Given the description of an element on the screen output the (x, y) to click on. 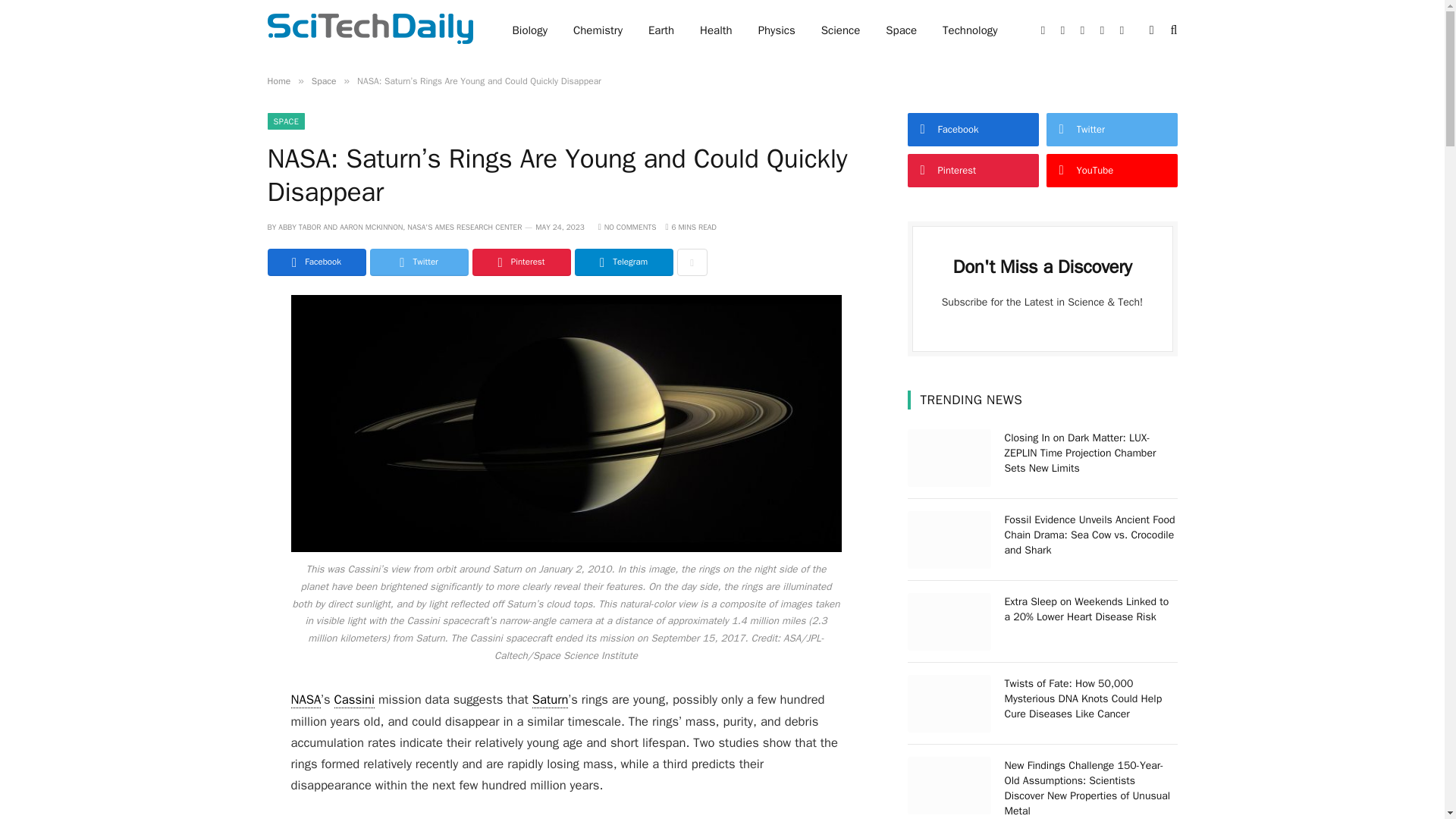
Biology (529, 30)
Health (716, 30)
Technology (970, 30)
SciTechDaily (368, 30)
Physics (776, 30)
Switch to Dark Design - easier on eyes. (1151, 30)
Home (277, 80)
SPACE (285, 121)
Share on Facebook (315, 262)
Telegram (623, 262)
